Given the description of an element on the screen output the (x, y) to click on. 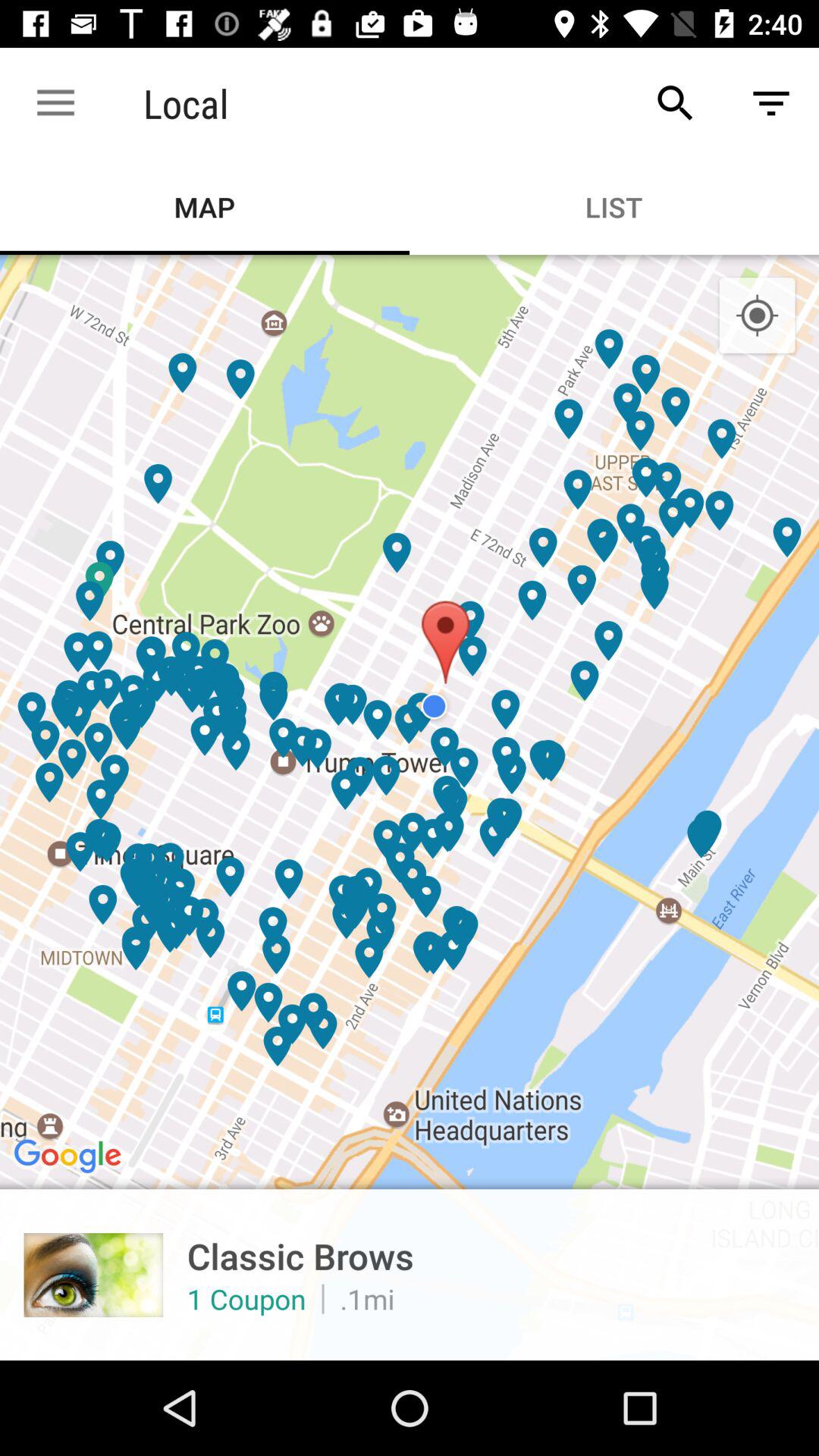
click icon to the right of the local (675, 103)
